Given the description of an element on the screen output the (x, y) to click on. 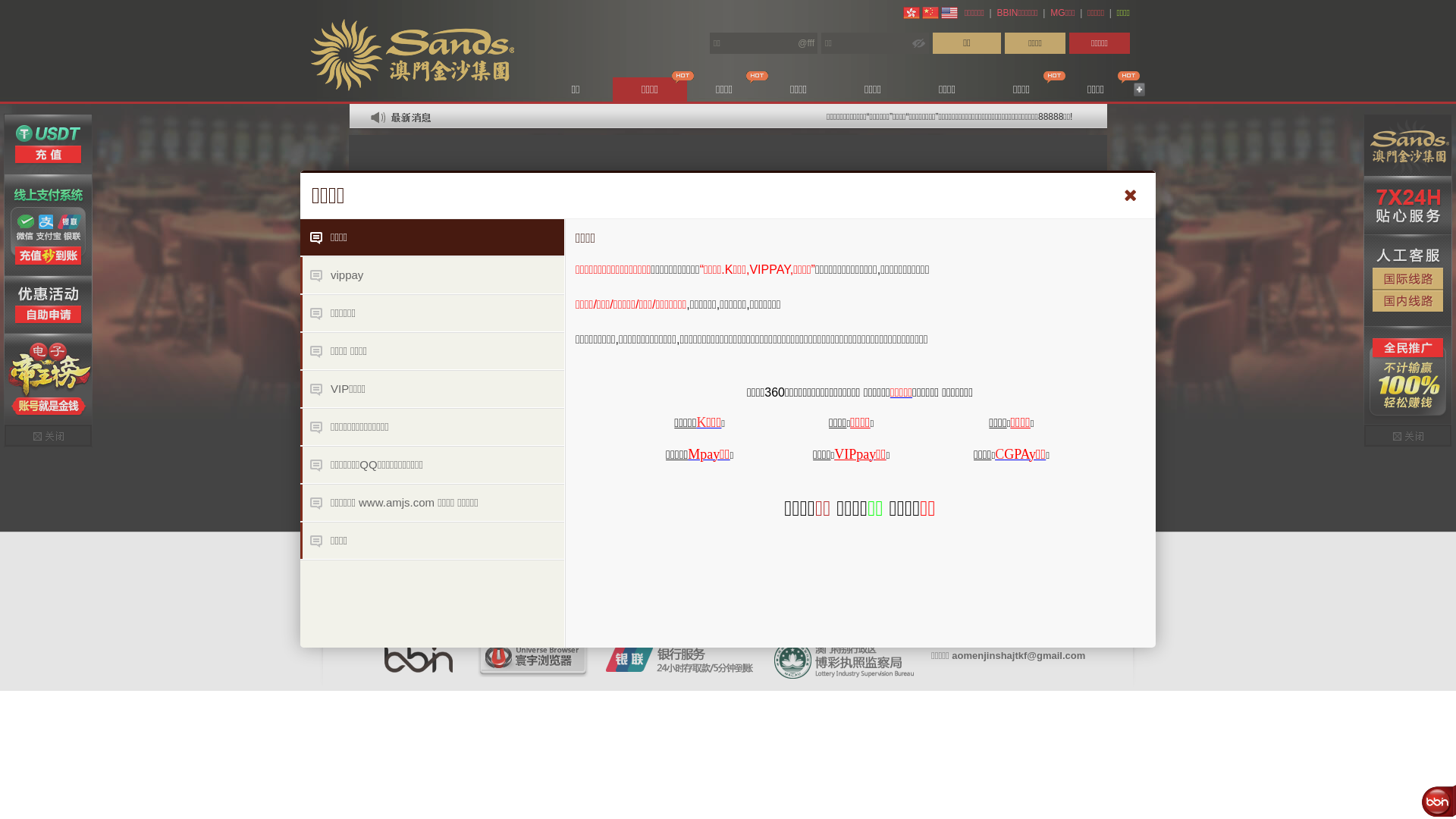
English Element type: hover (949, 12)
C Element type: text (999, 453)
